Given the description of an element on the screen output the (x, y) to click on. 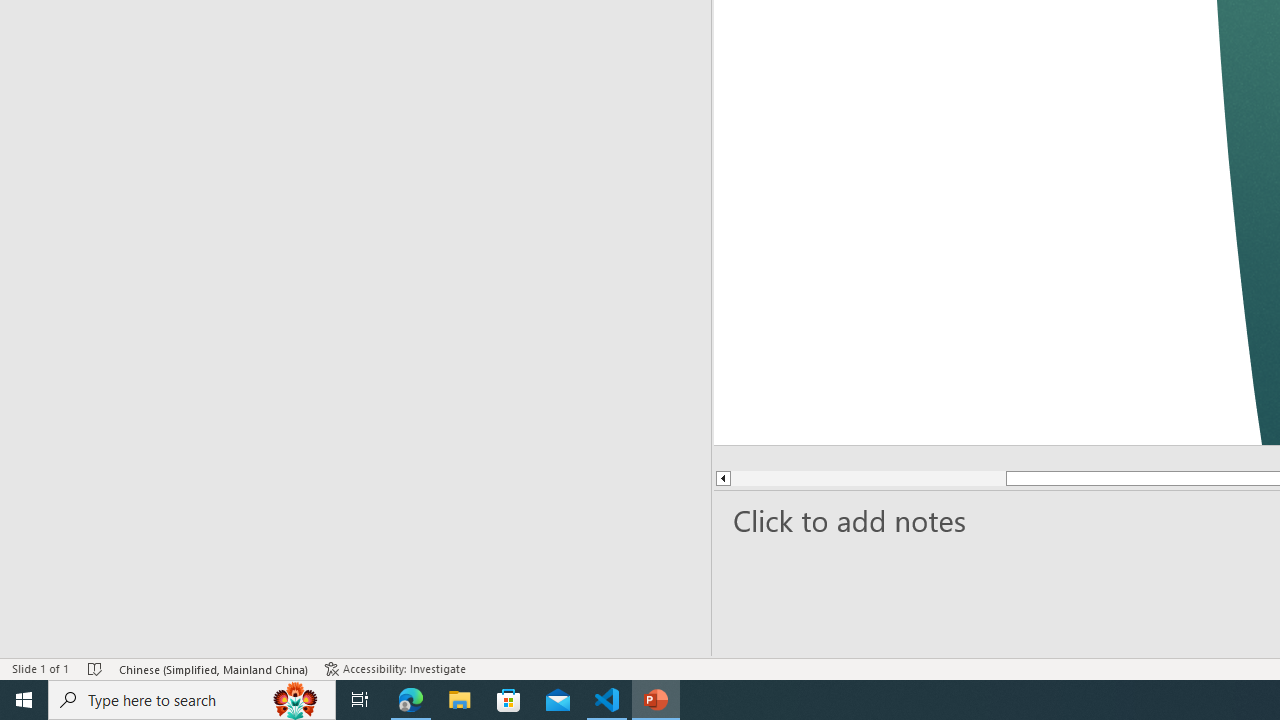
Accessibility Checker Accessibility: Investigate (397, 668)
Page up (868, 478)
Spell Check No Errors (95, 668)
Line up (722, 478)
